Given the description of an element on the screen output the (x, y) to click on. 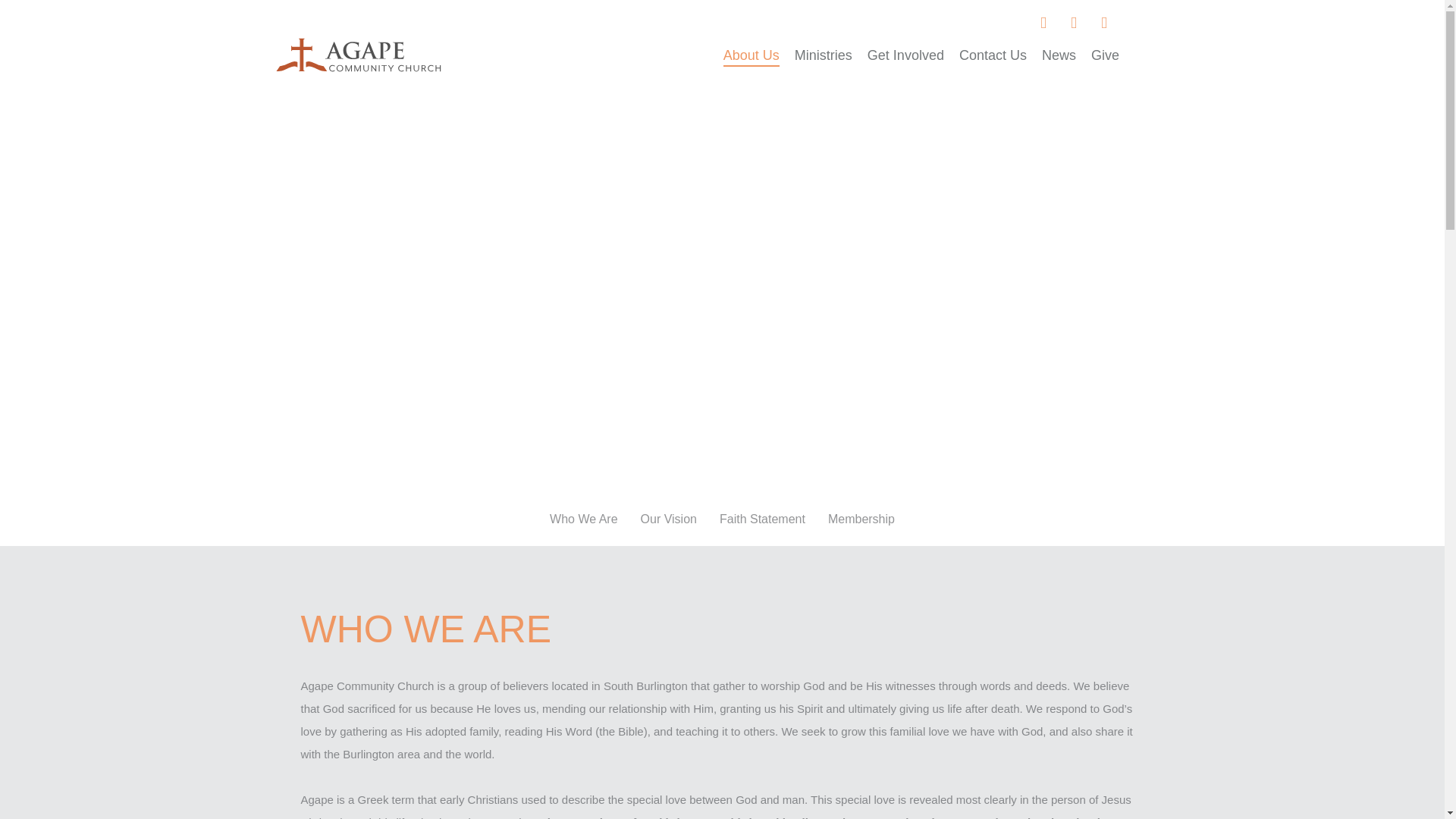
Who We Are (583, 518)
Faith Statement (762, 518)
Twitter (1104, 22)
Instagram (1073, 22)
Our Vision (668, 518)
Get Involved (905, 54)
Give (1104, 54)
About Us (750, 54)
News (1058, 54)
Ministries (822, 54)
Contact Us (992, 54)
Membership (861, 518)
Facebook (1042, 22)
